Given the description of an element on the screen output the (x, y) to click on. 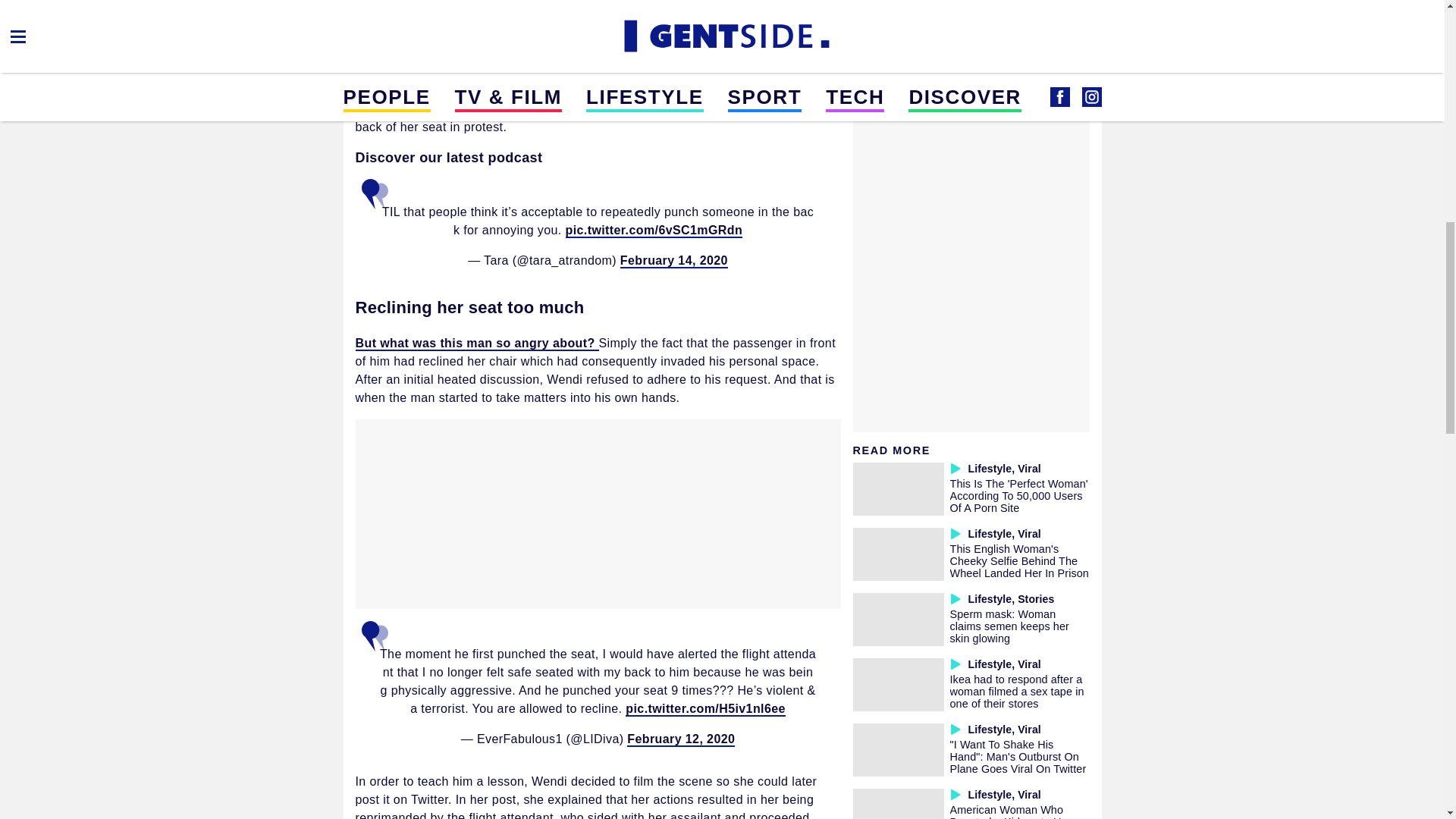
Share on Flipboard (451, 7)
Tweeter (488, 7)
Pin it (524, 7)
February 14, 2020 (674, 260)
February 12, 2020 (681, 739)
Share on Mail (415, 7)
Share on Facebook (378, 7)
But what was this man so angry about? (476, 343)
an American Airlines flight, (619, 63)
